Given the description of an element on the screen output the (x, y) to click on. 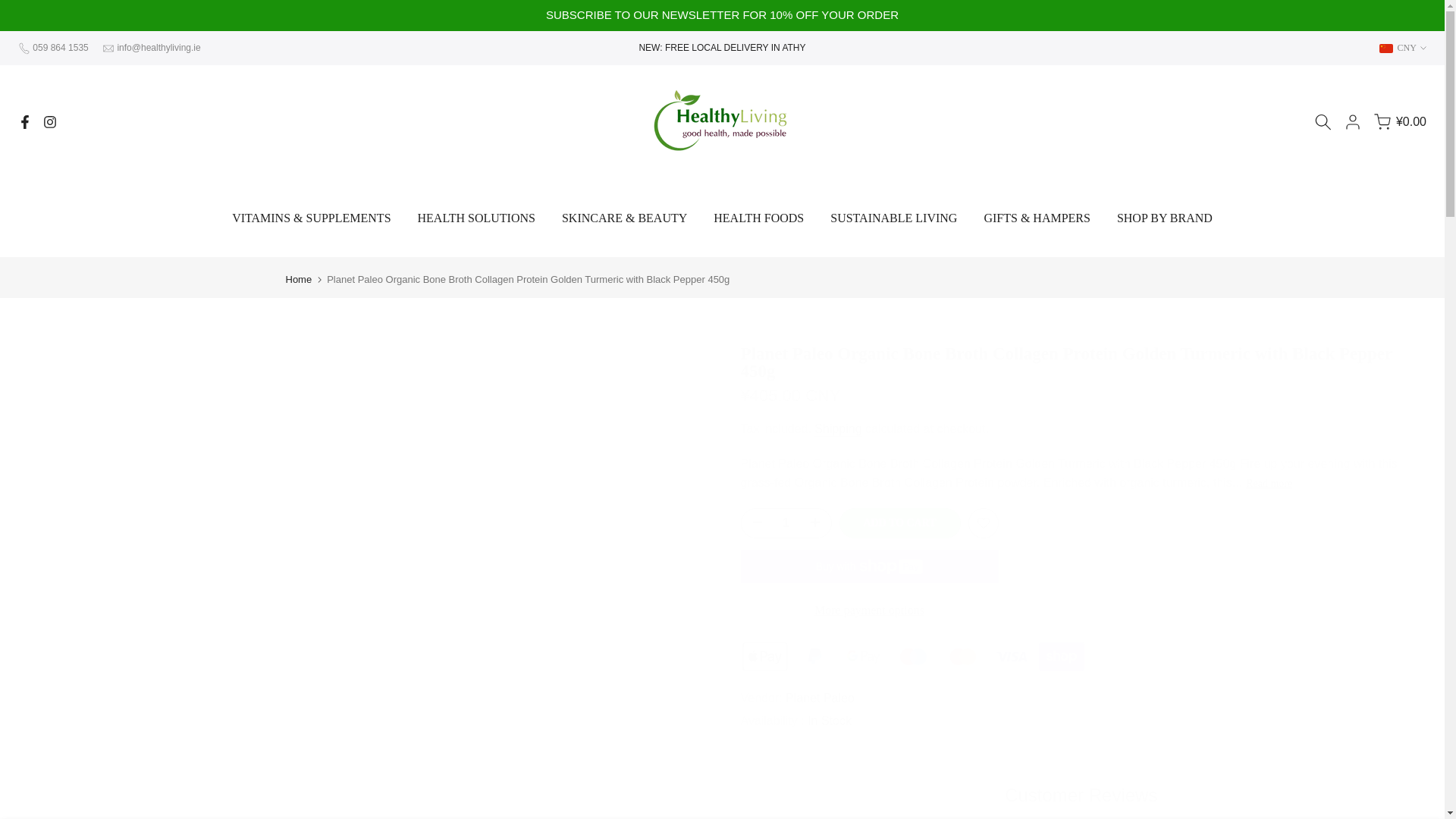
059 864 1535 (59, 47)
CNY (1402, 47)
Skip to content (10, 7)
1 (786, 522)
